Given the description of an element on the screen output the (x, y) to click on. 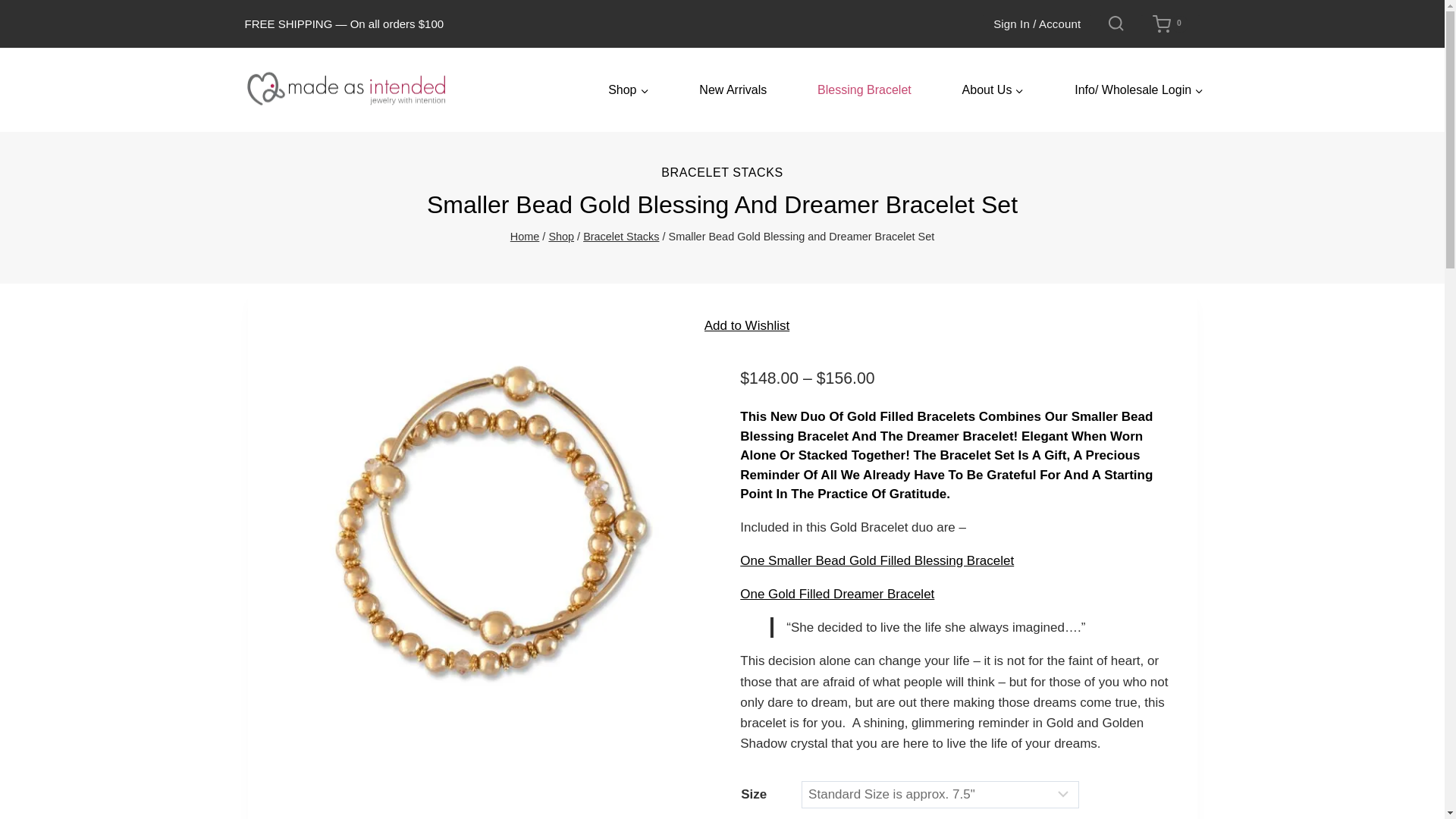
About Us (992, 91)
Shop (627, 91)
Home (525, 236)
Shop (560, 236)
BRACELET STACKS (722, 172)
Blessing Bracelet (863, 91)
New Arrivals (732, 91)
0 (1169, 24)
